Given the description of an element on the screen output the (x, y) to click on. 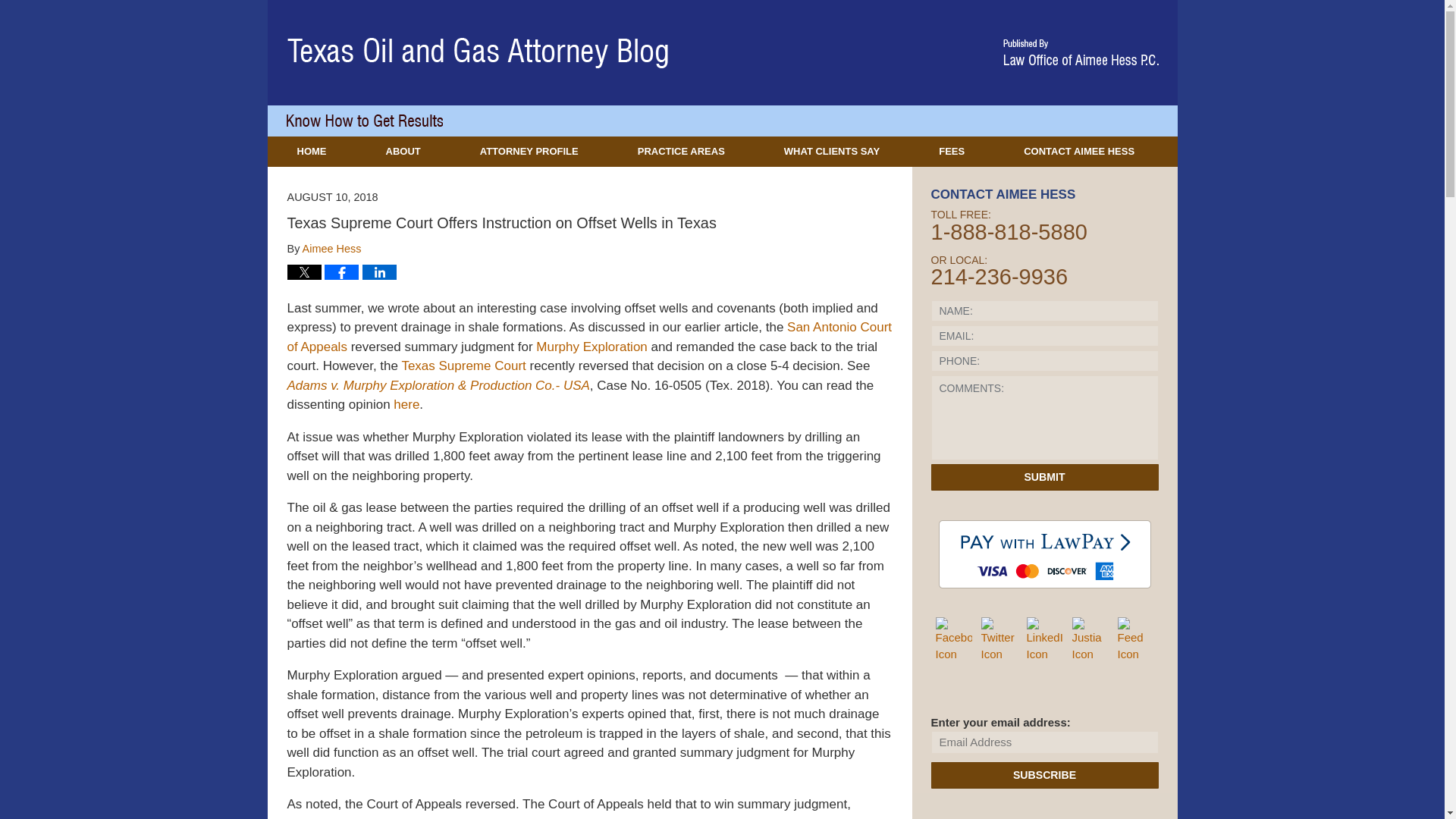
Published By Law Office of Aimee Hess P.C. (1080, 52)
ATTORNEY PROFILE (528, 151)
Facebook (953, 640)
Texas Supreme Court (463, 365)
Feed (1135, 640)
PRACTICE AREAS (681, 151)
here (406, 404)
Murphy Exploration (590, 346)
Texas Oil and Gas Attorney Blog (477, 52)
FEES (951, 151)
